Given the description of an element on the screen output the (x, y) to click on. 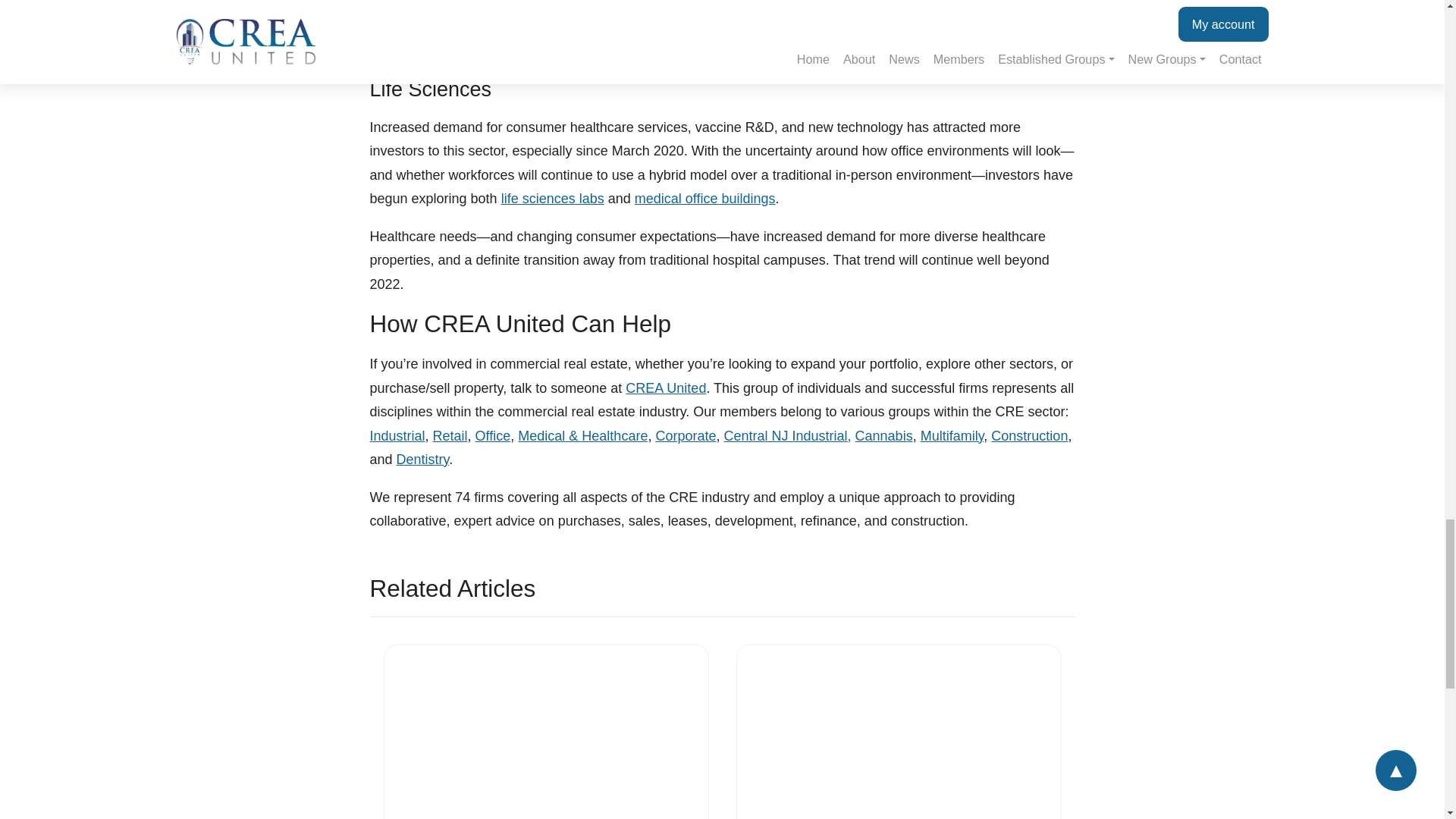
Workplace-Wellness-A-Big-Focus-for-2022 (898, 732)
life sciences labs (552, 198)
Office (493, 435)
Central NJ Industrial, (786, 435)
significant investment interest (879, 5)
medical office buildings (705, 198)
CREA United (666, 387)
Retail (449, 435)
Cannabis (884, 435)
Corporate (685, 435)
Industrial (397, 435)
